Given the description of an element on the screen output the (x, y) to click on. 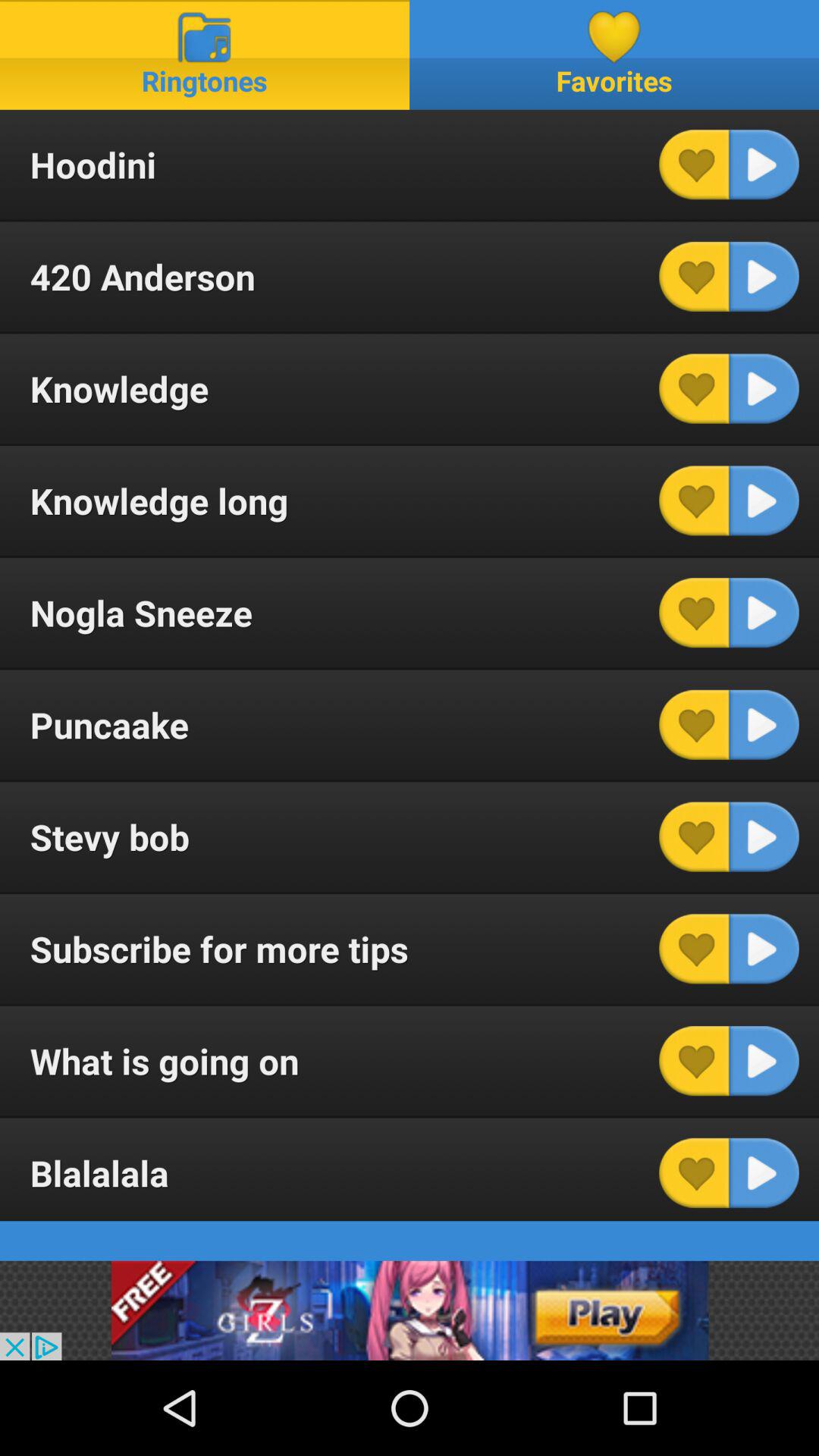
add to favourite (694, 1173)
